Given the description of an element on the screen output the (x, y) to click on. 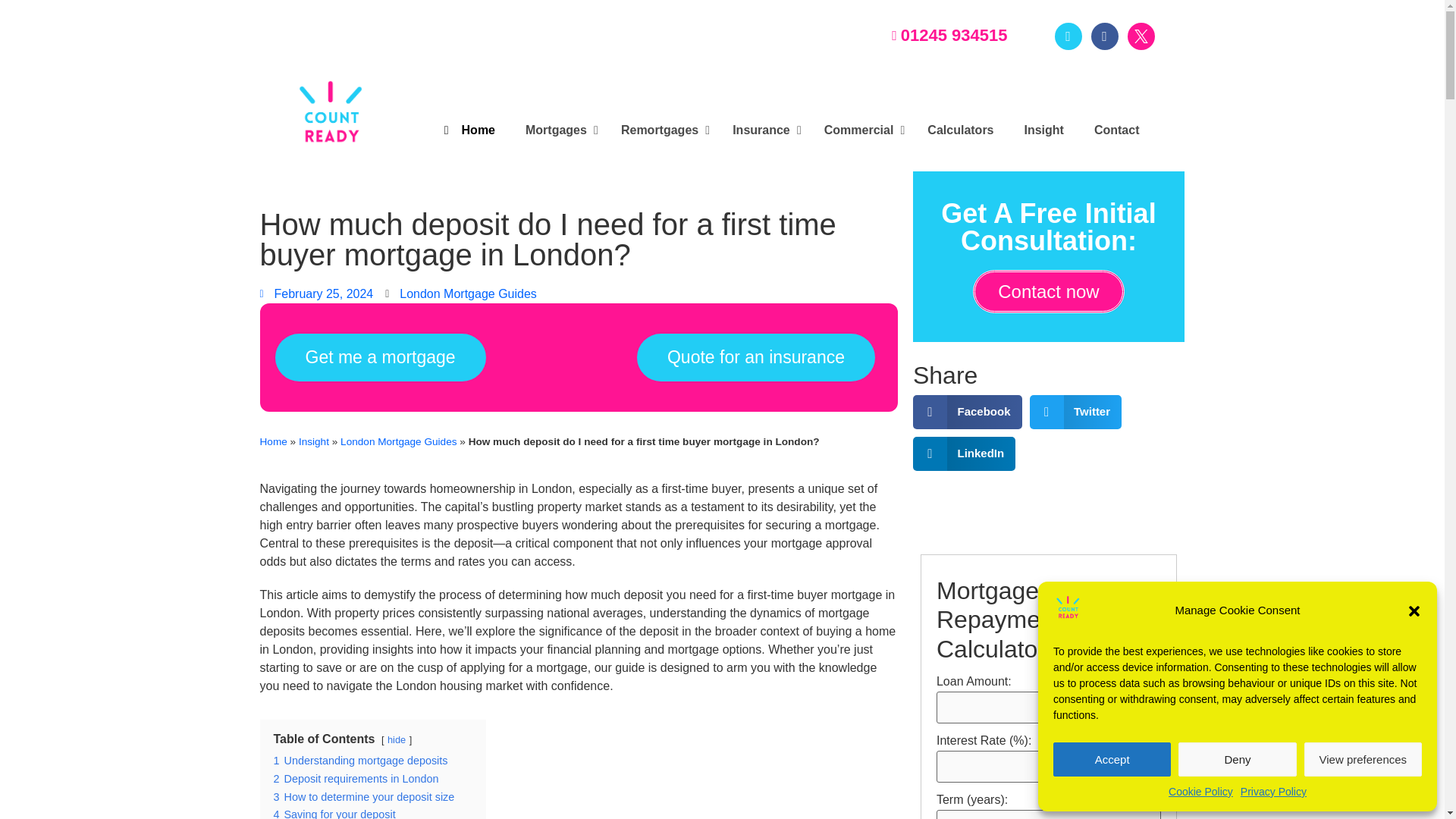
Accept (1111, 759)
Home (467, 130)
Cookie Policy (1201, 791)
Deny (1236, 759)
View preferences (1363, 759)
01245 934515 (934, 34)
Mortgages (558, 130)
Privacy Policy (1273, 791)
